Given the description of an element on the screen output the (x, y) to click on. 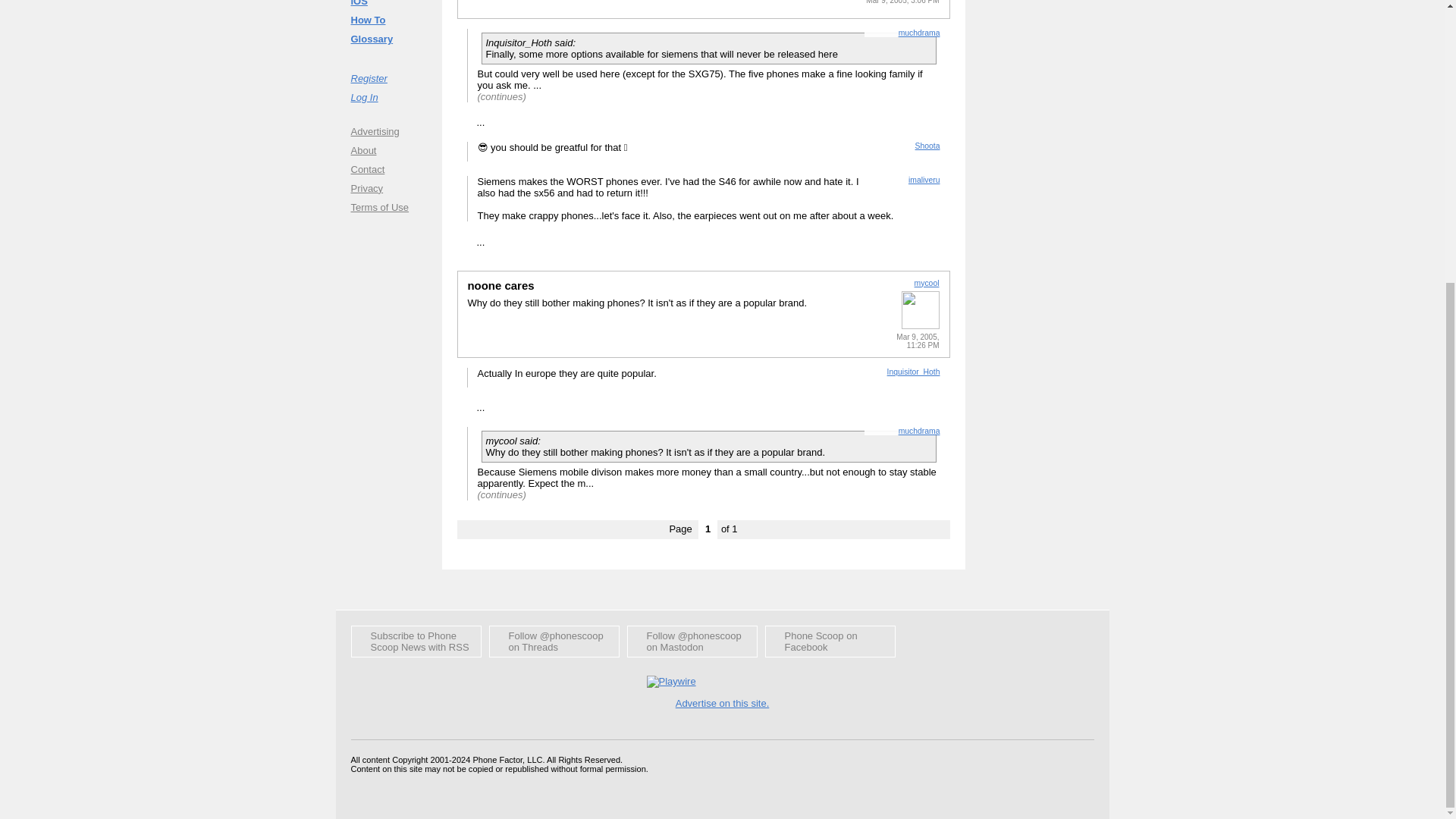
Advertising (387, 131)
About (387, 149)
Phone Scoop on Facebook (829, 641)
muchdrama (919, 31)
Privacy (387, 187)
Subscribe to Phone Scoop News with RSS (415, 641)
Log In (387, 96)
Terms of Use (387, 207)
iOS (387, 5)
Register (387, 77)
